Given the description of an element on the screen output the (x, y) to click on. 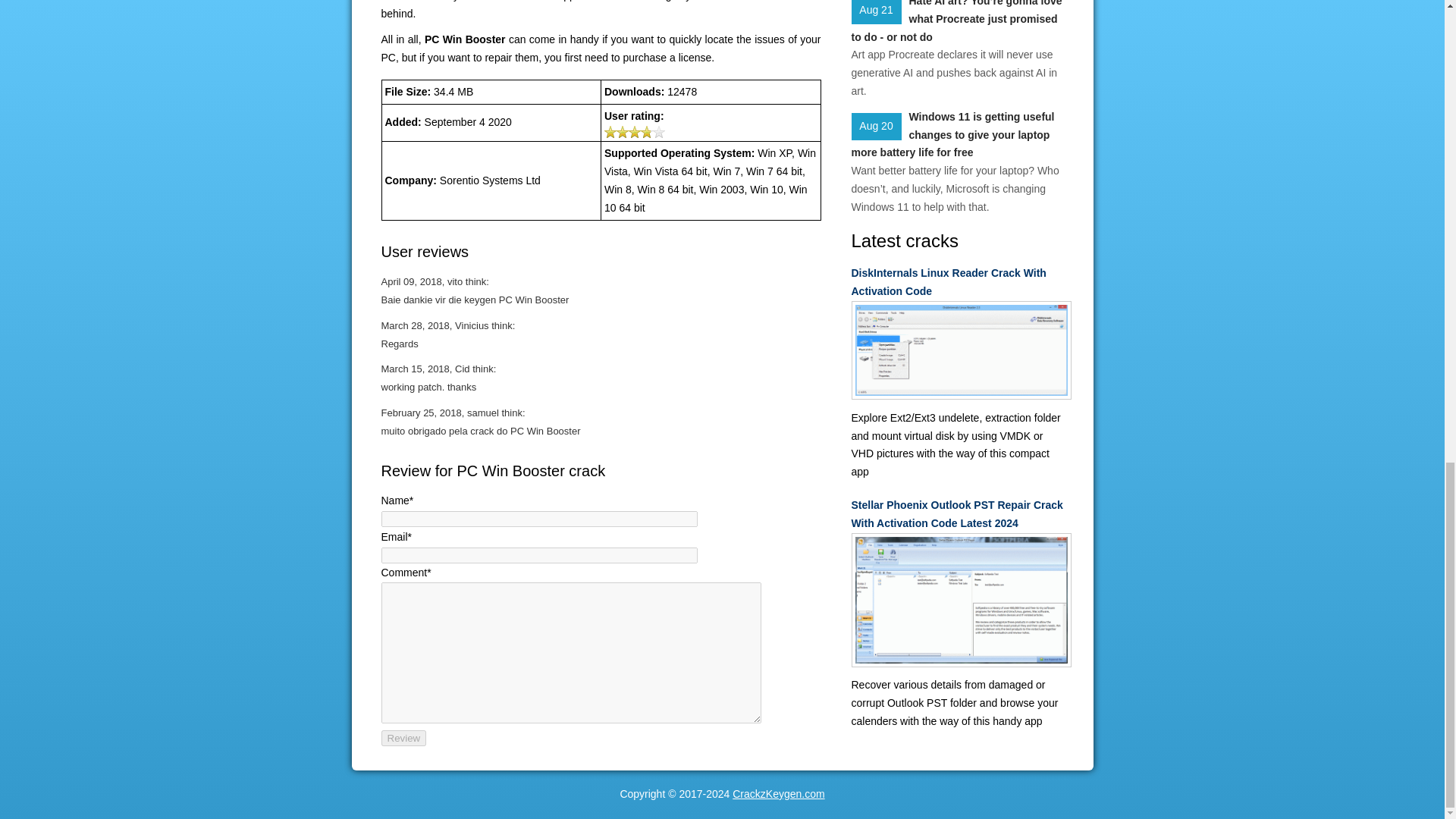
DiskInternals Linux Reader Crack With Activation Code (956, 282)
Review (403, 738)
CrackzKeygen.com (778, 793)
Review (403, 738)
